Given the description of an element on the screen output the (x, y) to click on. 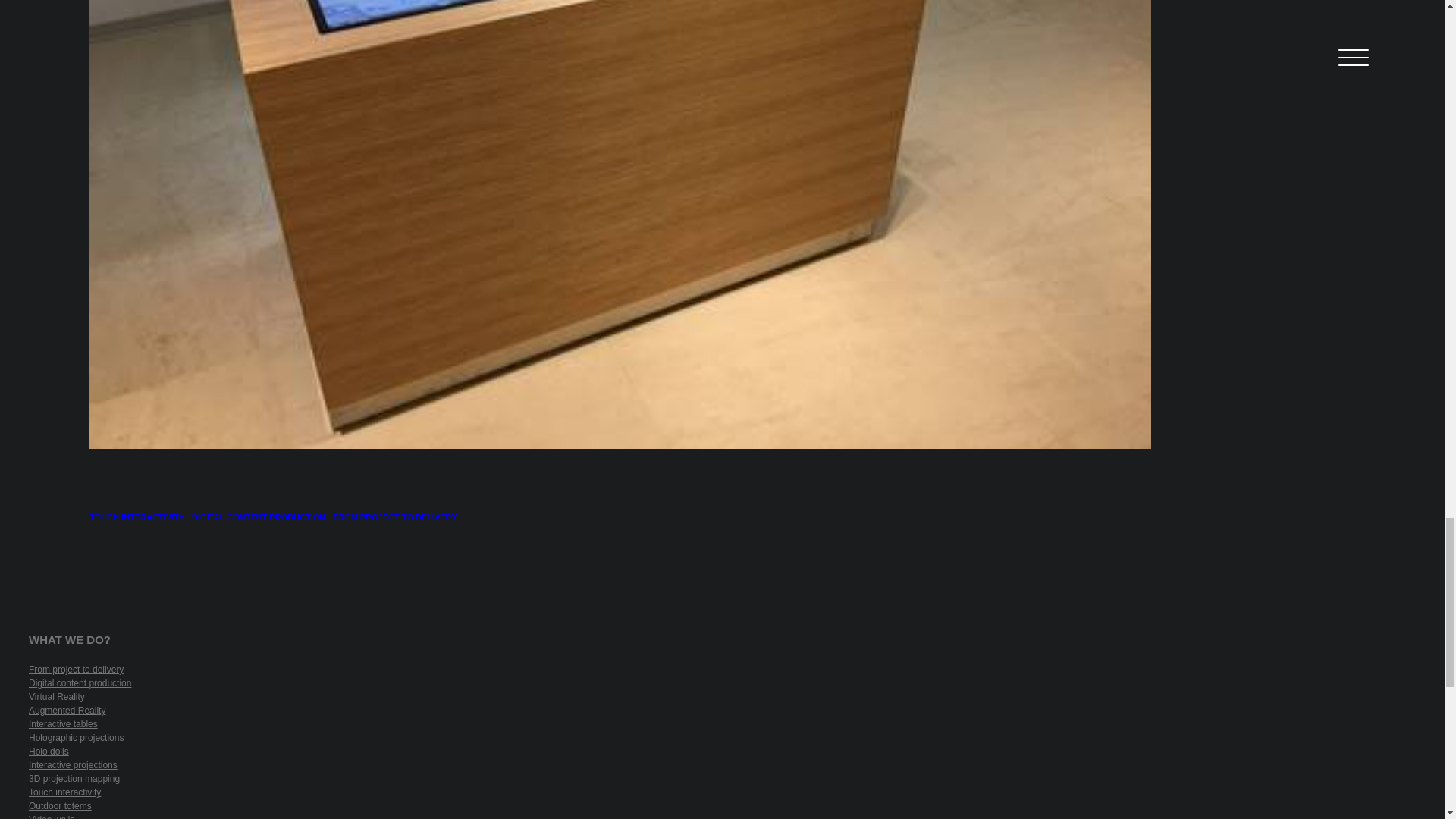
DIGITAL CONTENT PRODUCTION (258, 516)
From project to delivery (559, 671)
FROM PROJECT TO DELIVERY (395, 516)
TOUCH INTERACTIVITY (136, 516)
